Given the description of an element on the screen output the (x, y) to click on. 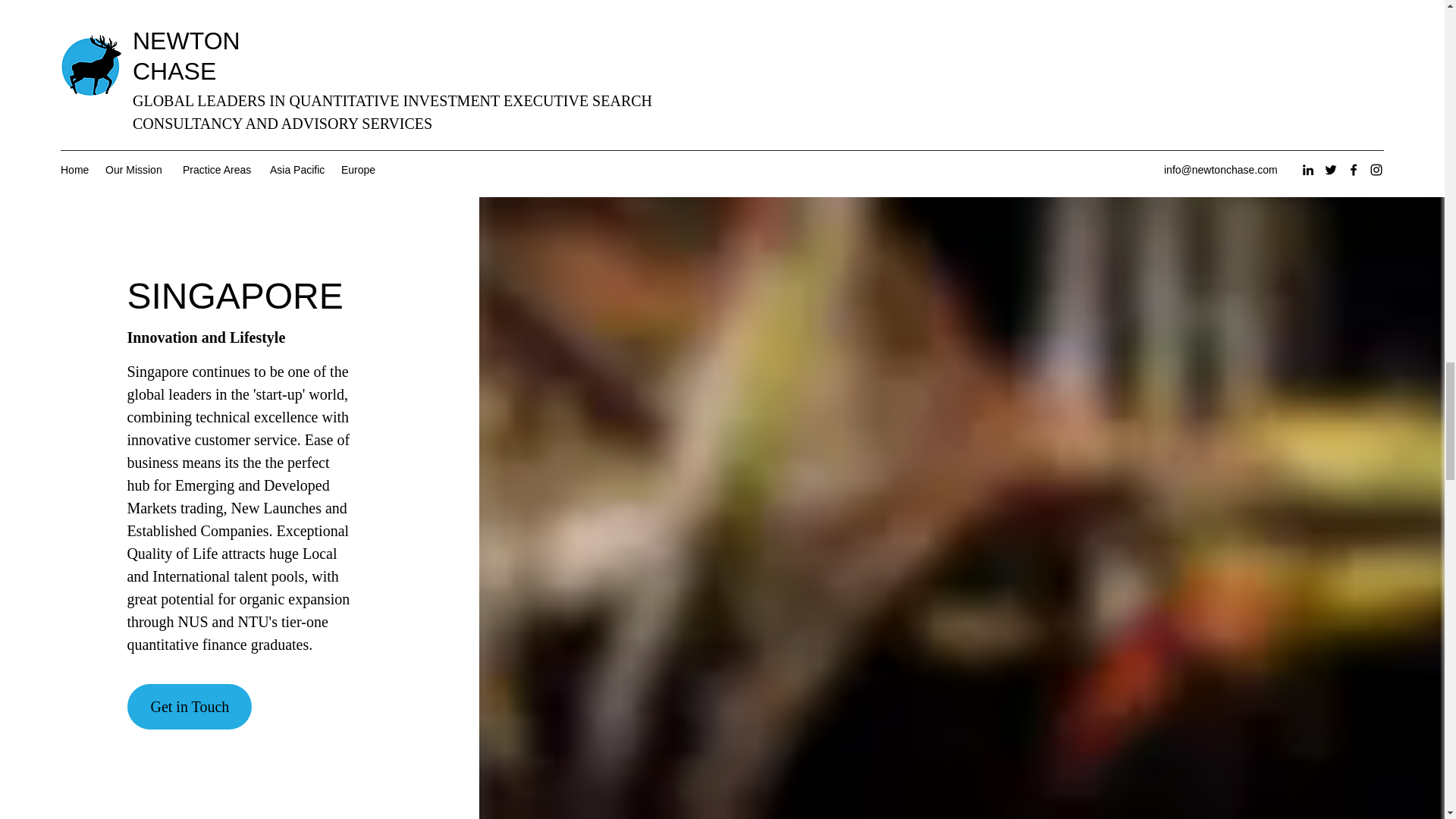
Get in Touch (189, 706)
